Given the description of an element on the screen output the (x, y) to click on. 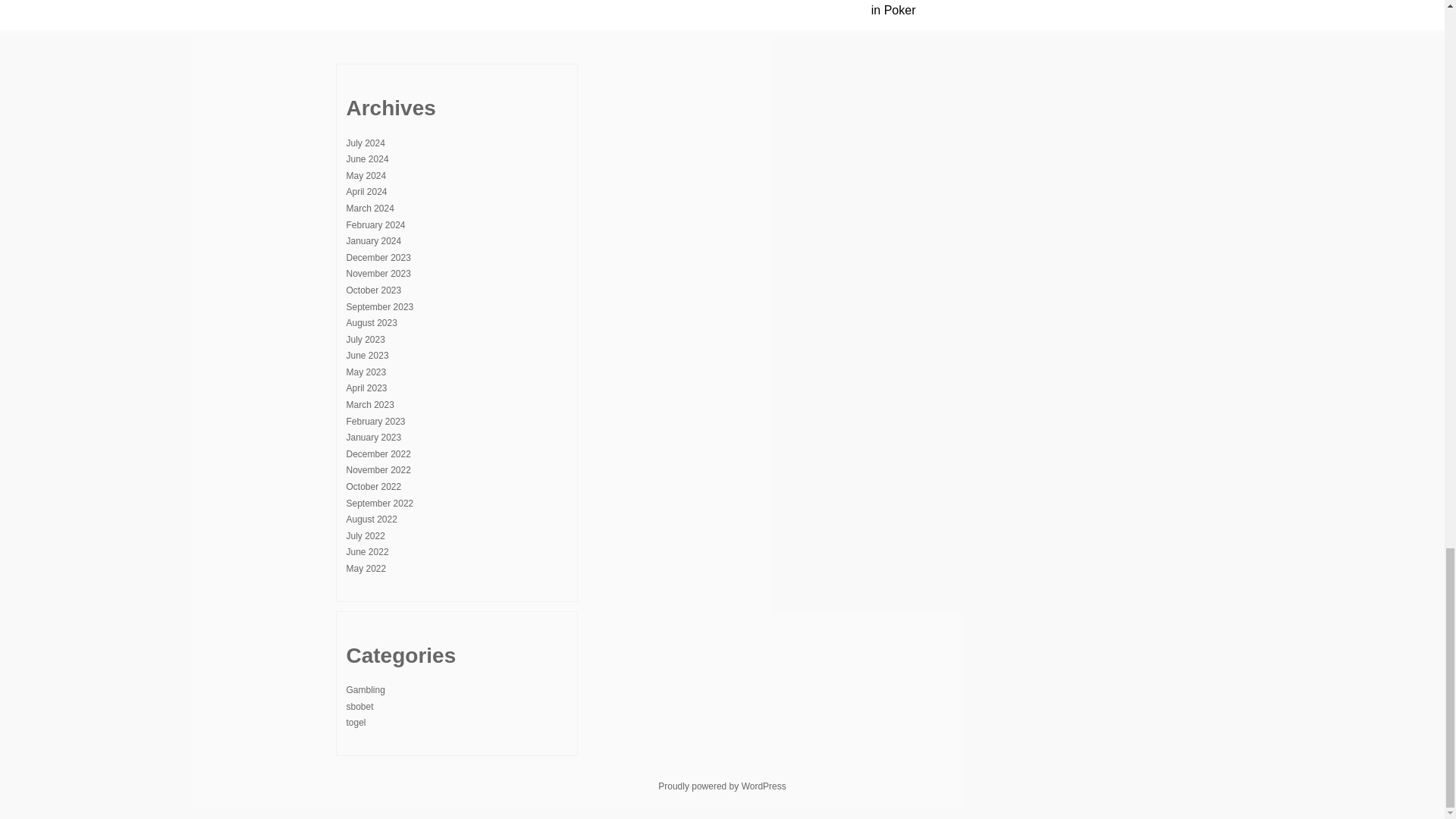
April 2024 (366, 191)
October 2023 (373, 290)
June 2023 (367, 355)
January 2024 (373, 240)
December 2022 (378, 453)
September 2023 (379, 307)
July 2023 (365, 339)
December 2023 (378, 257)
March 2023 (369, 404)
August 2023 (371, 322)
February 2024 (375, 225)
May 2023 (365, 371)
April 2023 (366, 388)
March 2024 (369, 208)
June 2024 (367, 158)
